Given the description of an element on the screen output the (x, y) to click on. 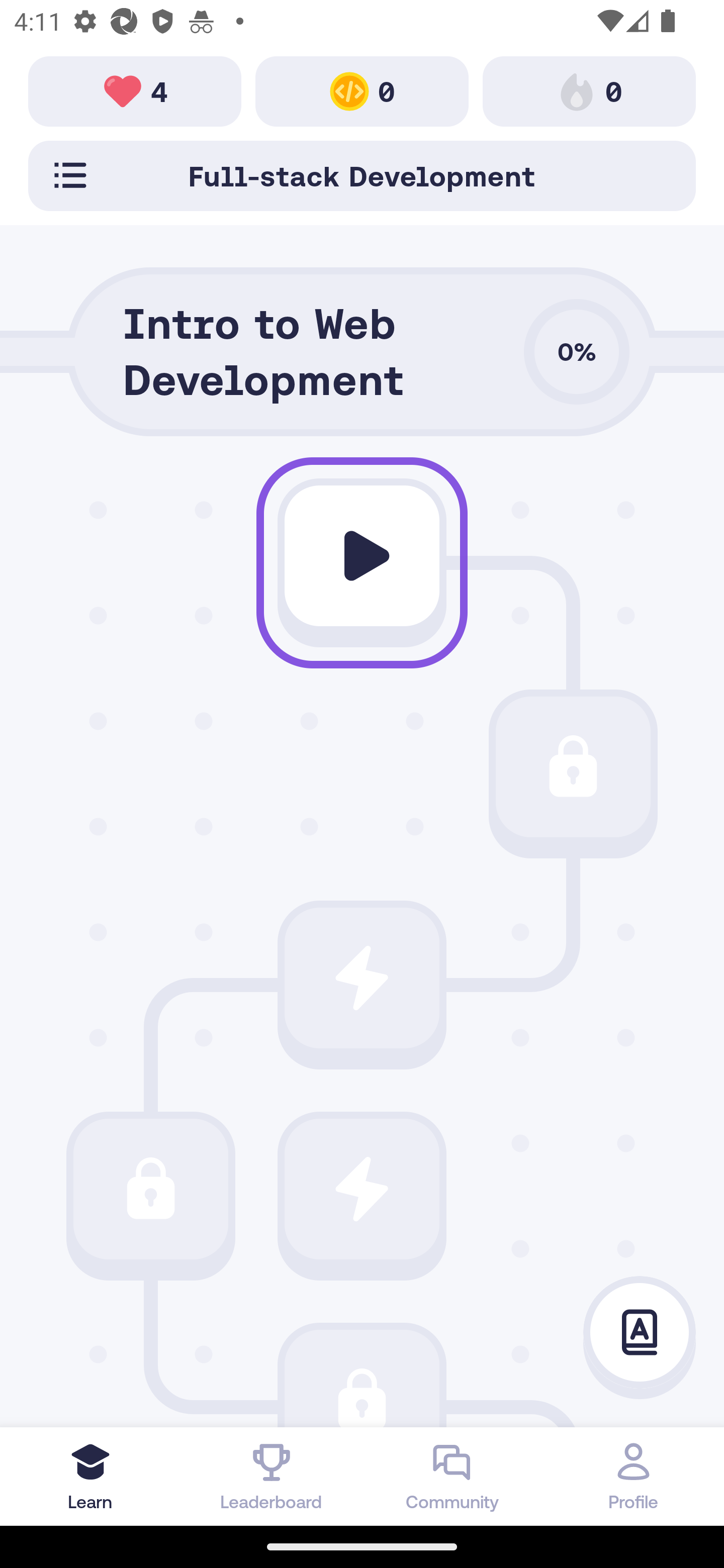
Path Toolbar Image 4 (134, 90)
Path Toolbar Image 0 (361, 90)
Path Toolbar Image 0 (588, 90)
Path Toolbar Selector Full-stack Development (361, 175)
Path Icon (361, 555)
Path Icon (572, 766)
Path Icon (361, 977)
Path Icon (150, 1188)
Path Icon (361, 1188)
Glossary Icon (639, 1332)
Path Icon (361, 1377)
Leaderboard (271, 1475)
Community (452, 1475)
Profile (633, 1475)
